Given the description of an element on the screen output the (x, y) to click on. 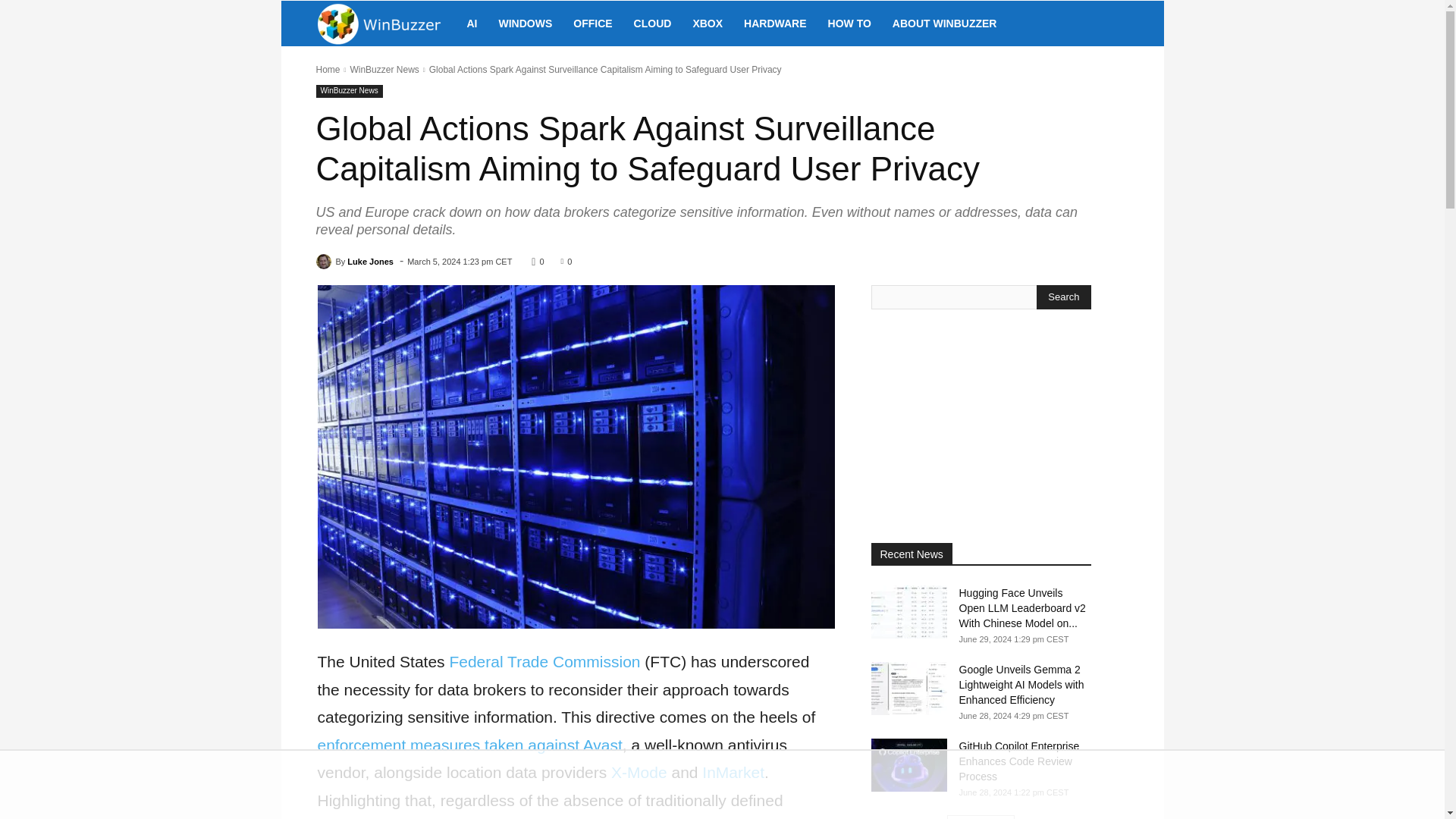
Search (1063, 297)
View all posts in WinBuzzer News (384, 69)
Luke Jones (324, 261)
